Given the description of an element on the screen output the (x, y) to click on. 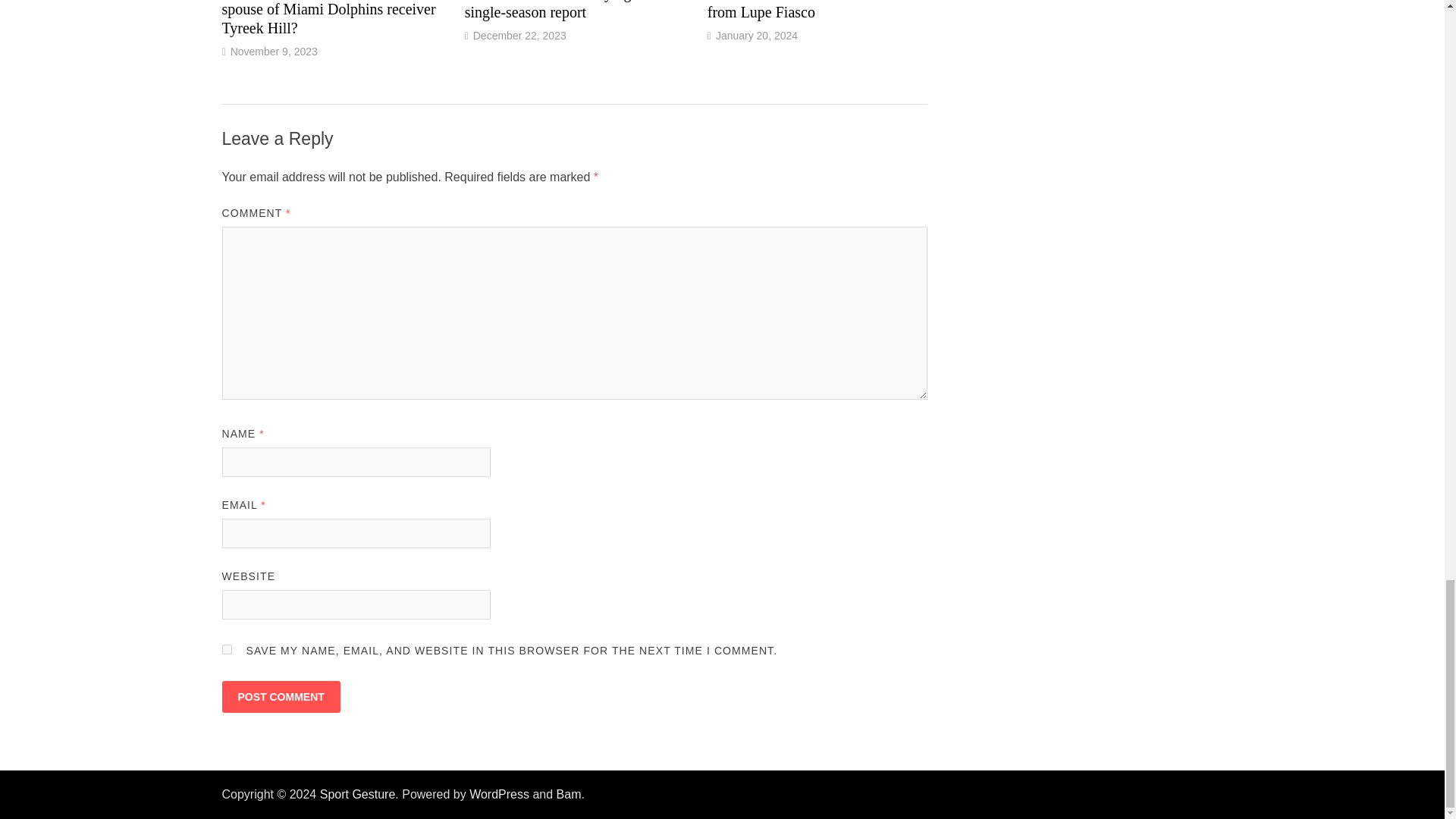
November 9, 2023 (273, 51)
Post Comment (280, 696)
yes (226, 649)
December 22, 2023 (519, 35)
January 20, 2024 (756, 35)
Sport Gesture (358, 793)
